Given the description of an element on the screen output the (x, y) to click on. 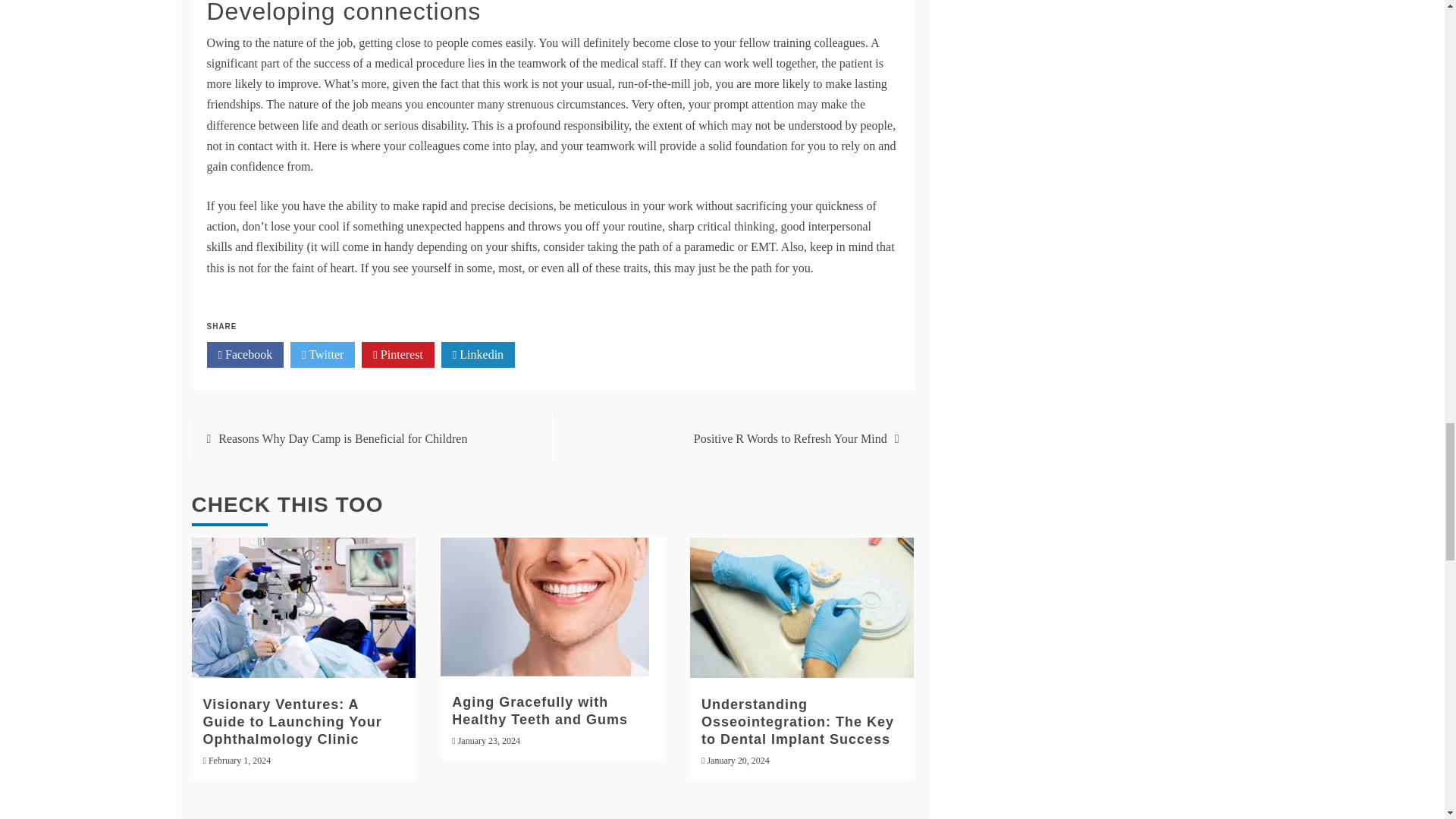
February 1, 2024 (239, 760)
Twitter (322, 354)
Facebook (244, 354)
Positive R Words to Refresh Your Mind (790, 438)
Pinterest (397, 354)
Reasons Why Day Camp is Beneficial for Children (342, 438)
Linkedin (478, 354)
